Given the description of an element on the screen output the (x, y) to click on. 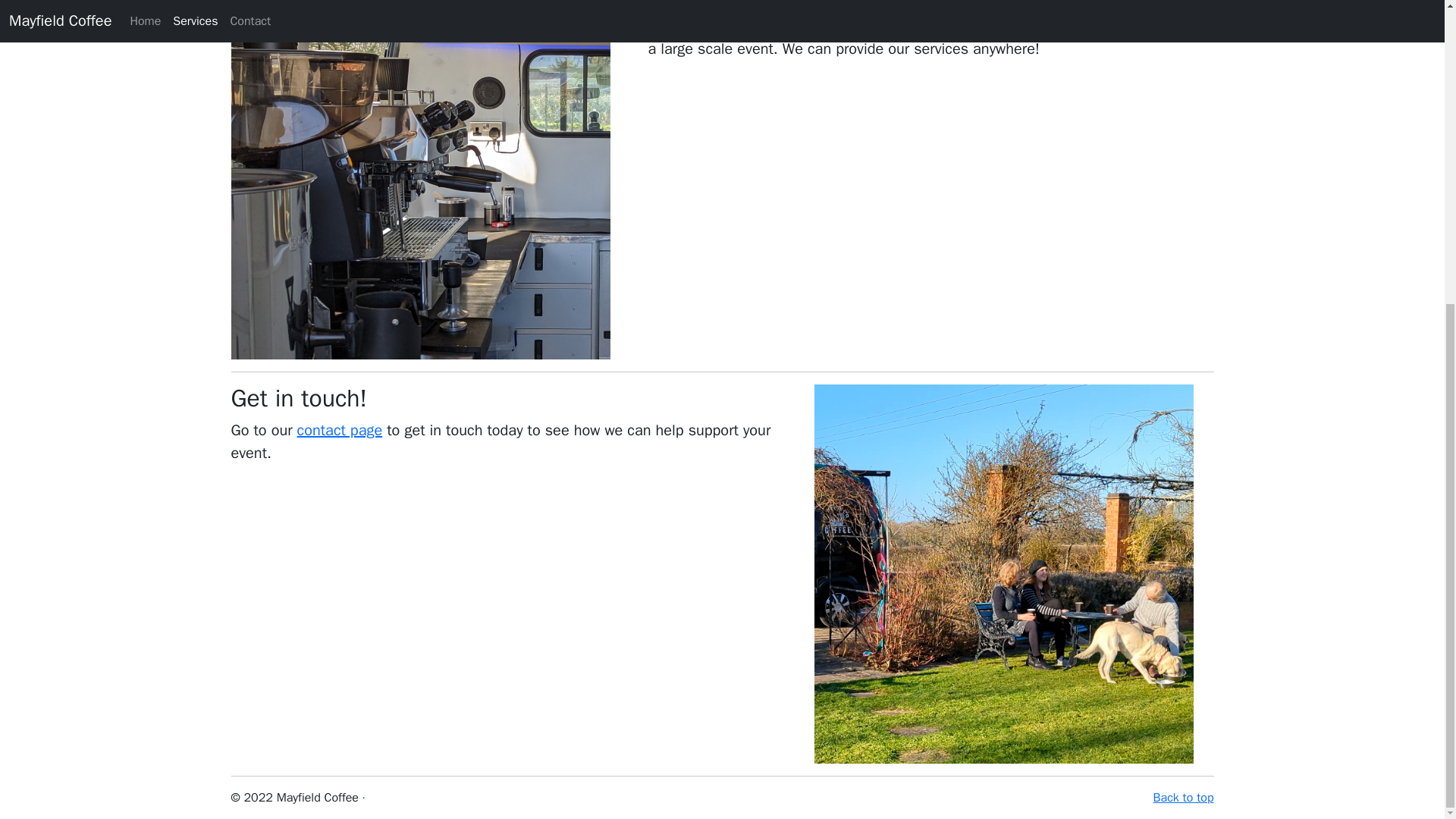
contact page (339, 429)
Back to top (1183, 797)
